Given the description of an element on the screen output the (x, y) to click on. 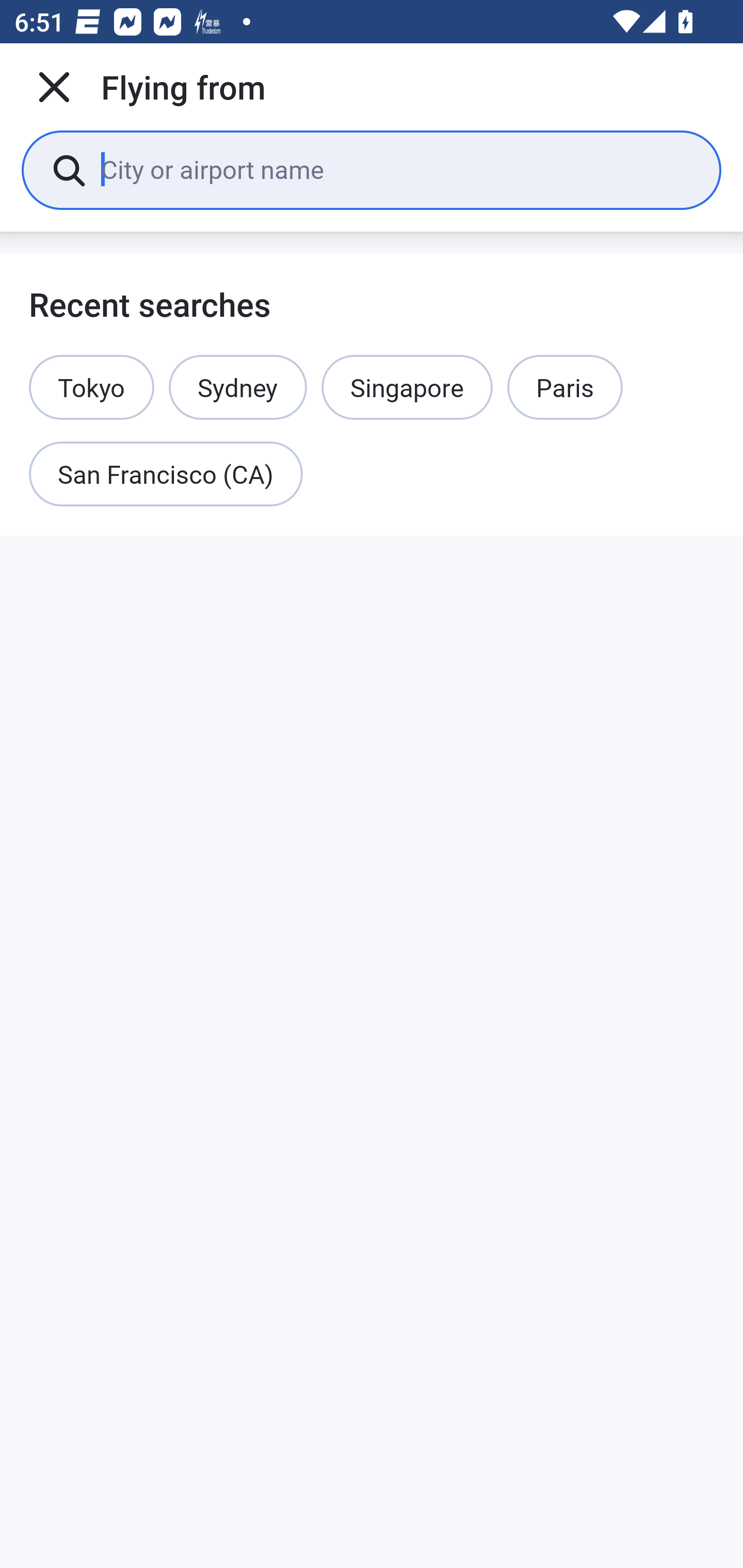
City or airport name (396, 169)
Tokyo (91, 387)
Sydney (237, 387)
Singapore (406, 387)
Paris (564, 387)
San Francisco (CA) (165, 474)
